Given the description of an element on the screen output the (x, y) to click on. 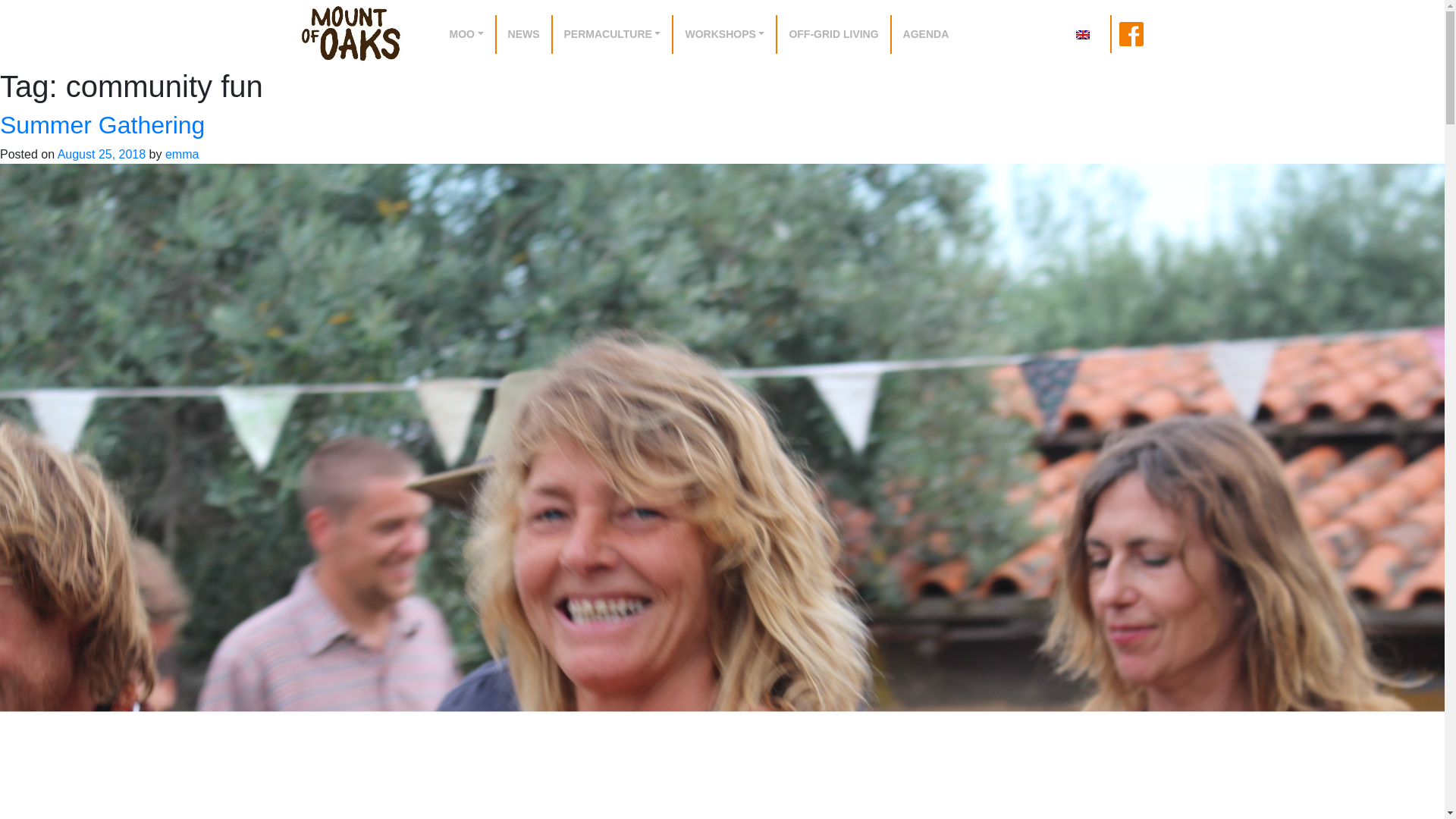
Moo (466, 34)
English (1082, 34)
Workshops (723, 34)
Summer Gathering (102, 124)
NEWS (523, 34)
WORKSHOPS (723, 34)
Agenda (924, 34)
OFF-GRID LIVING (832, 34)
News (523, 34)
AGENDA (924, 34)
